Given the description of an element on the screen output the (x, y) to click on. 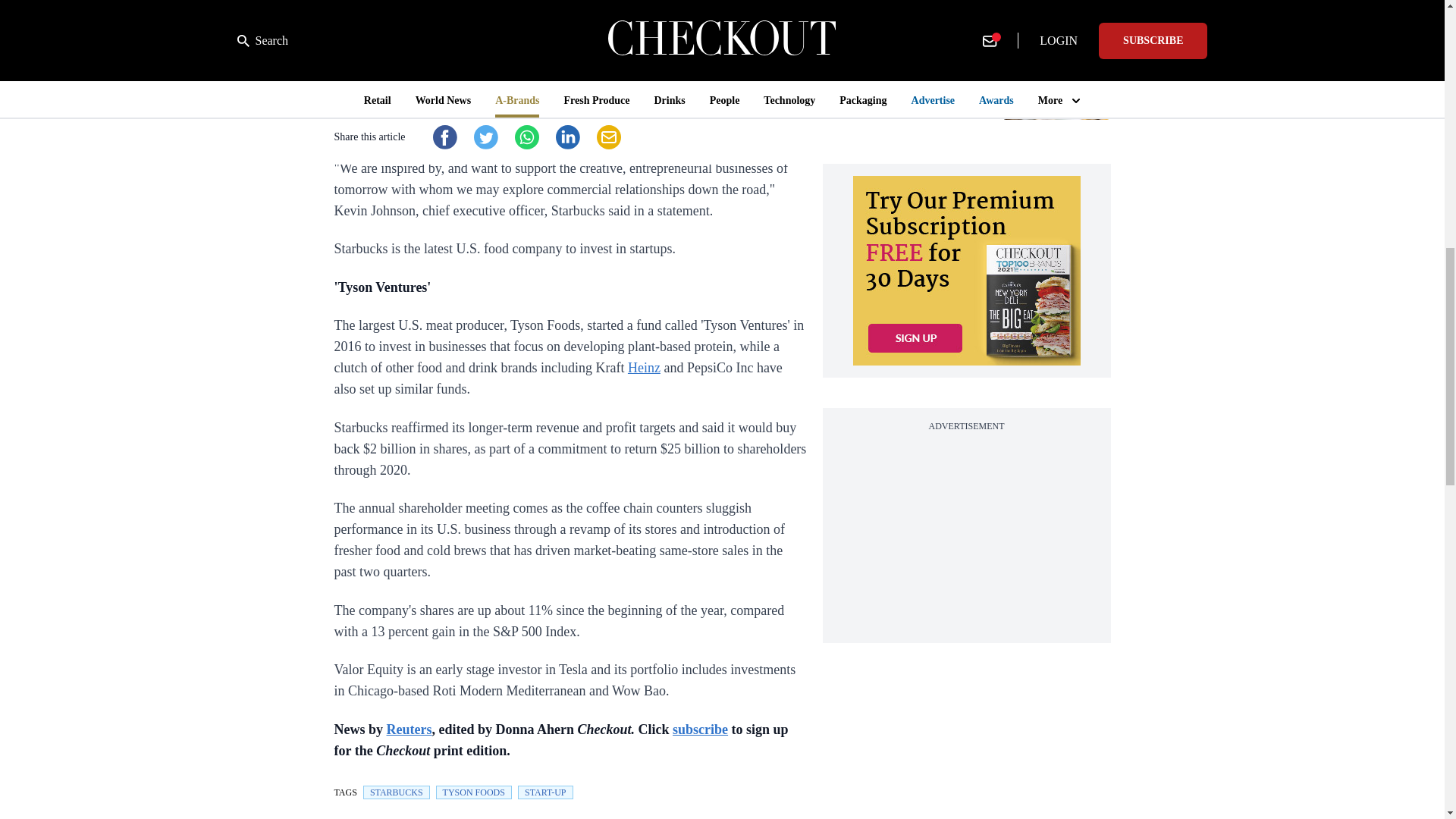
Heinz (644, 367)
